Given the description of an element on the screen output the (x, y) to click on. 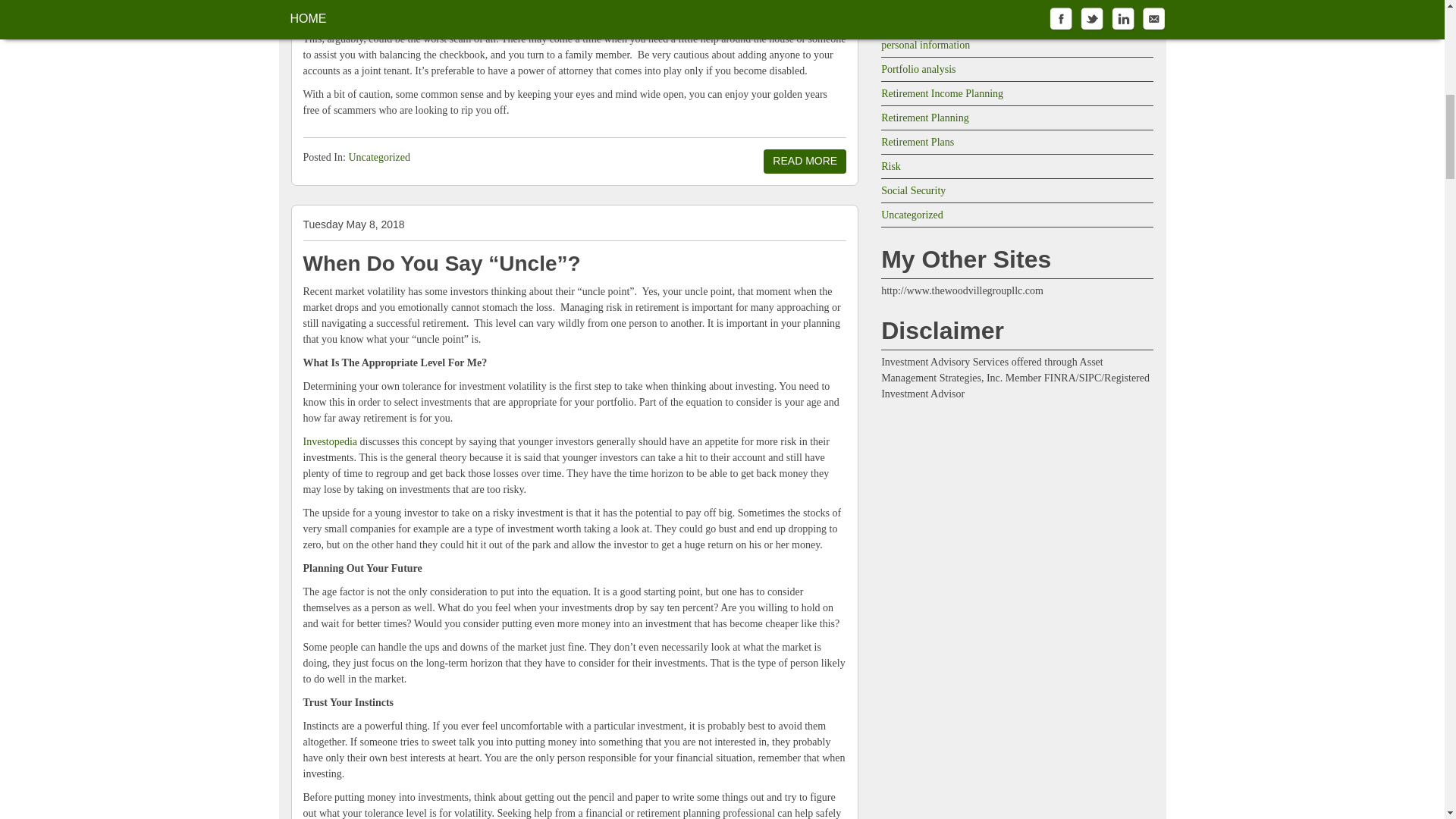
View all posts in Uncategorized (378, 156)
Investopedia (330, 441)
Uncategorized (378, 156)
READ MORE (803, 161)
